Given the description of an element on the screen output the (x, y) to click on. 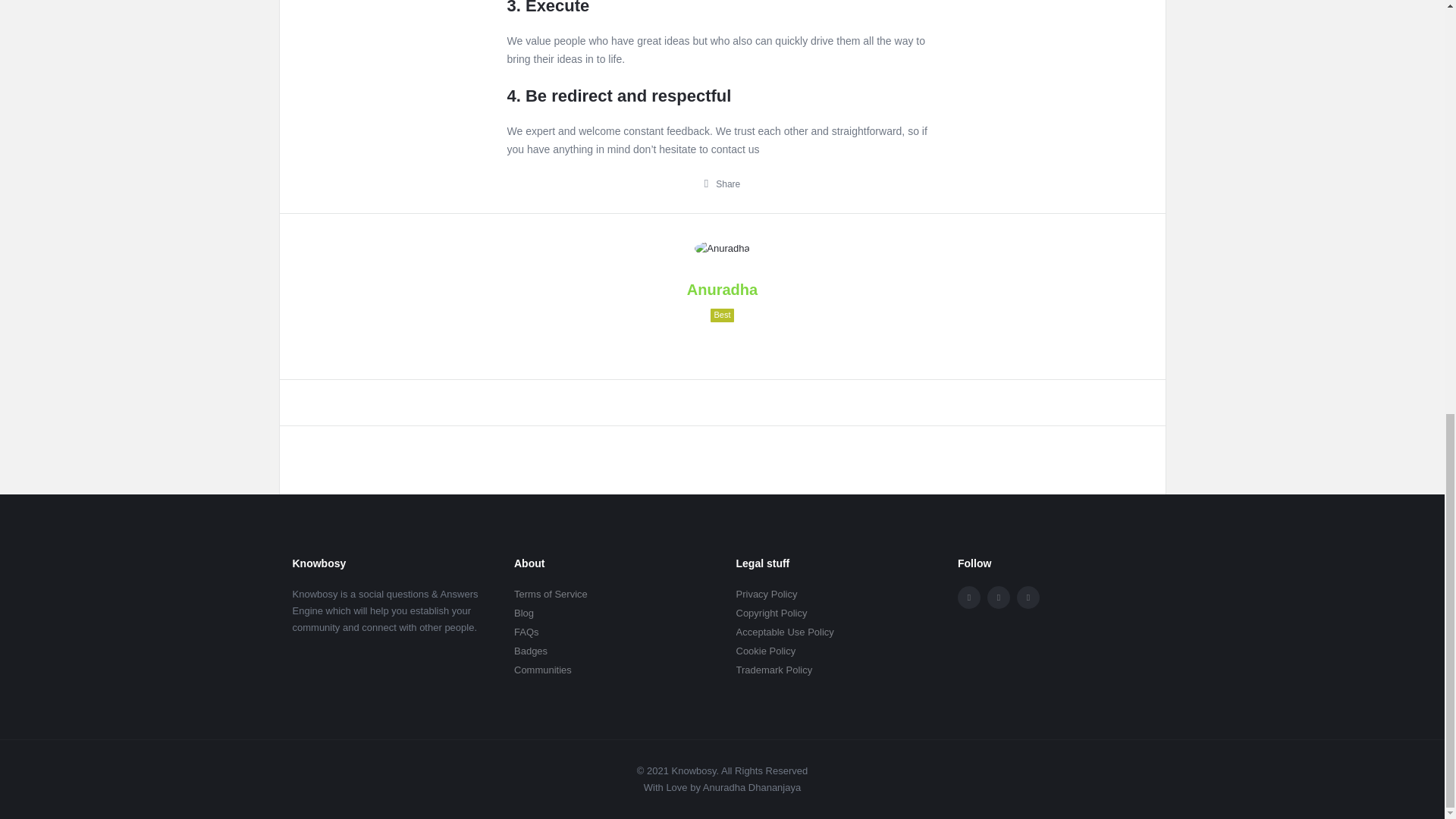
Twitter (998, 597)
Facebook (968, 597)
Anuradha (722, 248)
Pinterest (1027, 597)
